Given the description of an element on the screen output the (x, y) to click on. 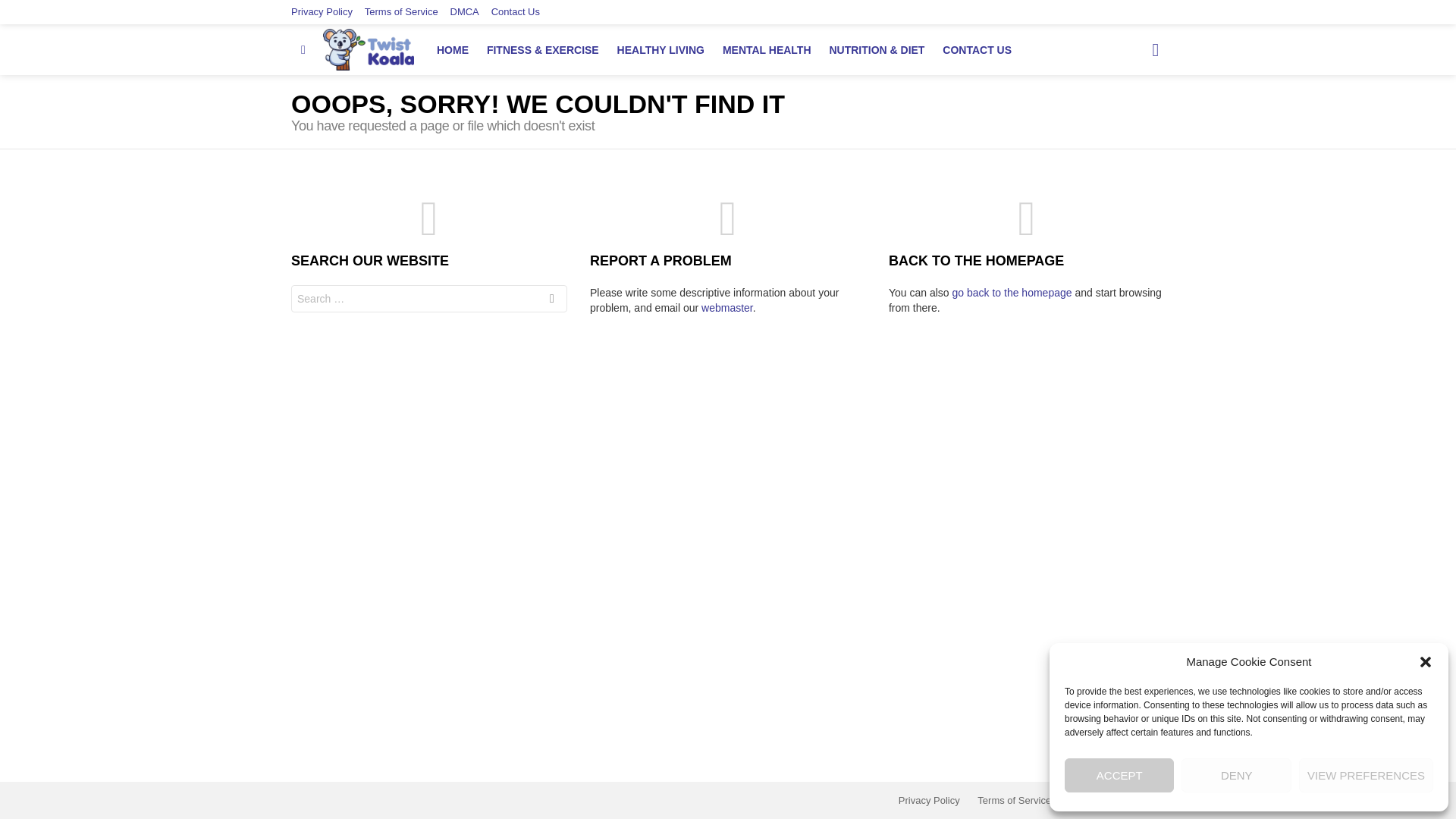
DMCA (1083, 800)
VIEW PREFERENCES (1365, 775)
Privacy Policy (929, 800)
HOME (452, 49)
Search for: (429, 298)
Contact Us (1140, 800)
CONTACT US (976, 49)
webmaster (726, 307)
SEARCH (552, 300)
go back to the homepage (1011, 292)
Terms of Service (401, 12)
Contact Us (516, 12)
Terms of Service (1013, 800)
MENTAL HEALTH (766, 49)
Menu (303, 49)
